Given the description of an element on the screen output the (x, y) to click on. 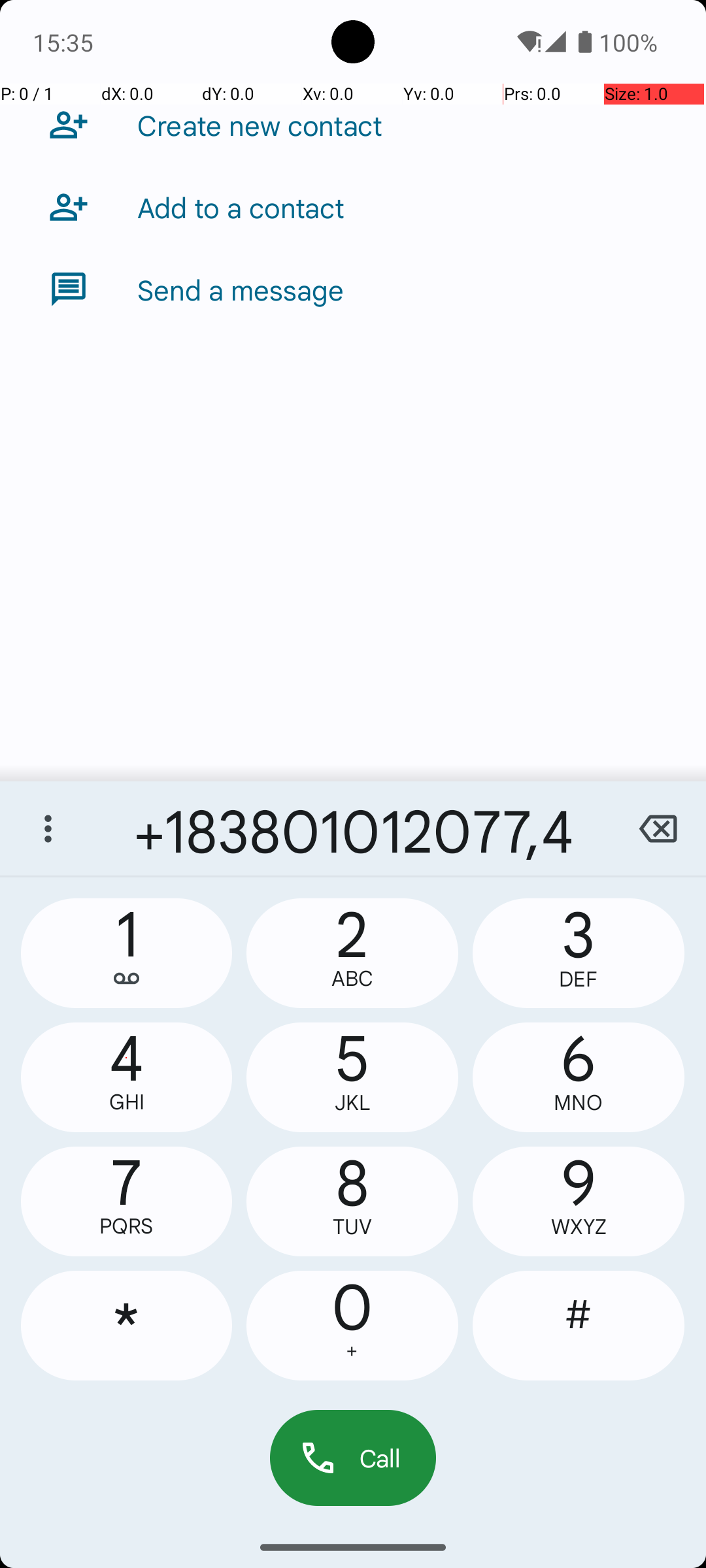
+183801012077,4 Element type: android.widget.EditText (352, 828)
Add to a contact Element type: android.widget.TextView (240, 206)
Send a message Element type: android.widget.TextView (240, 289)
